Given the description of an element on the screen output the (x, y) to click on. 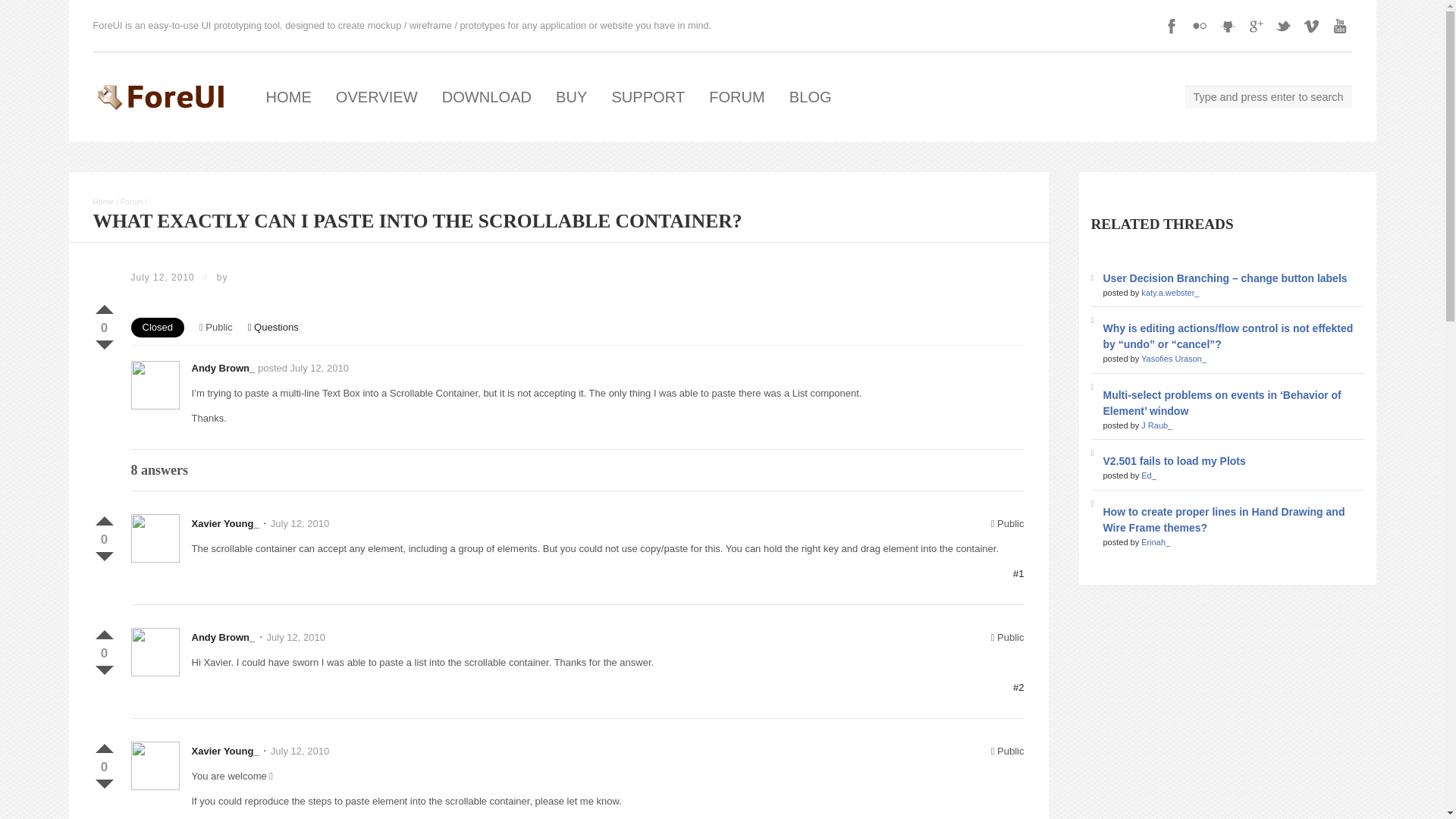
Home (103, 202)
BUY (570, 96)
OVERVIEW (376, 96)
July 12, 2010 (295, 636)
Twitter (1283, 25)
posted July 12, 2010 (303, 367)
VOTE UP (104, 744)
Vote Down (104, 341)
Flickr (1199, 25)
DOWNLOAD (486, 96)
